Given the description of an element on the screen output the (x, y) to click on. 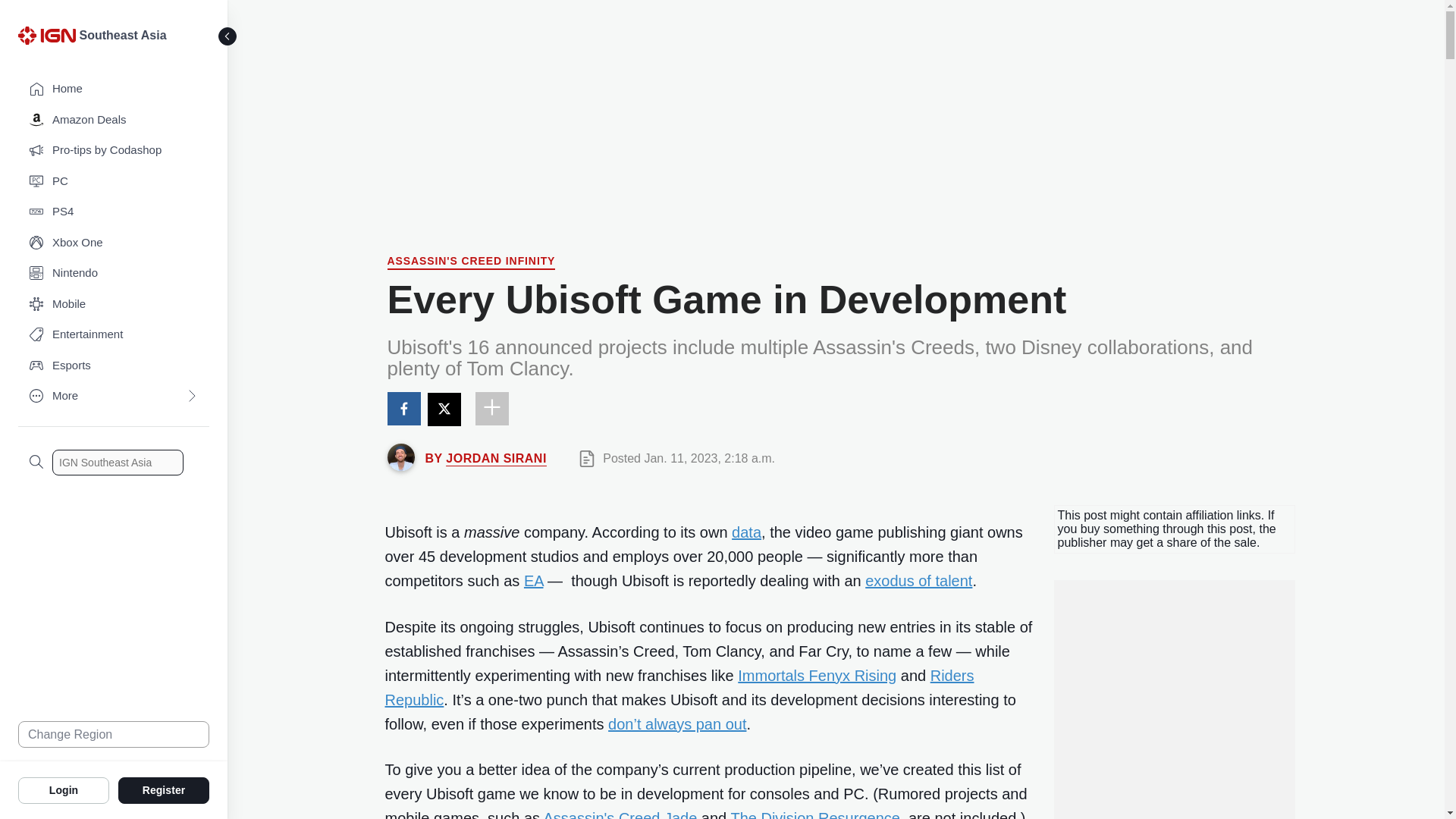
Entertainment (113, 334)
IGN Logo (46, 34)
Toggle Sidebar (226, 36)
Register (163, 789)
Home (113, 89)
Mobile (113, 304)
Esports (113, 365)
JORDAN SIRANI (495, 458)
More (113, 396)
Pro-tips by Codashop (113, 150)
